Given the description of an element on the screen output the (x, y) to click on. 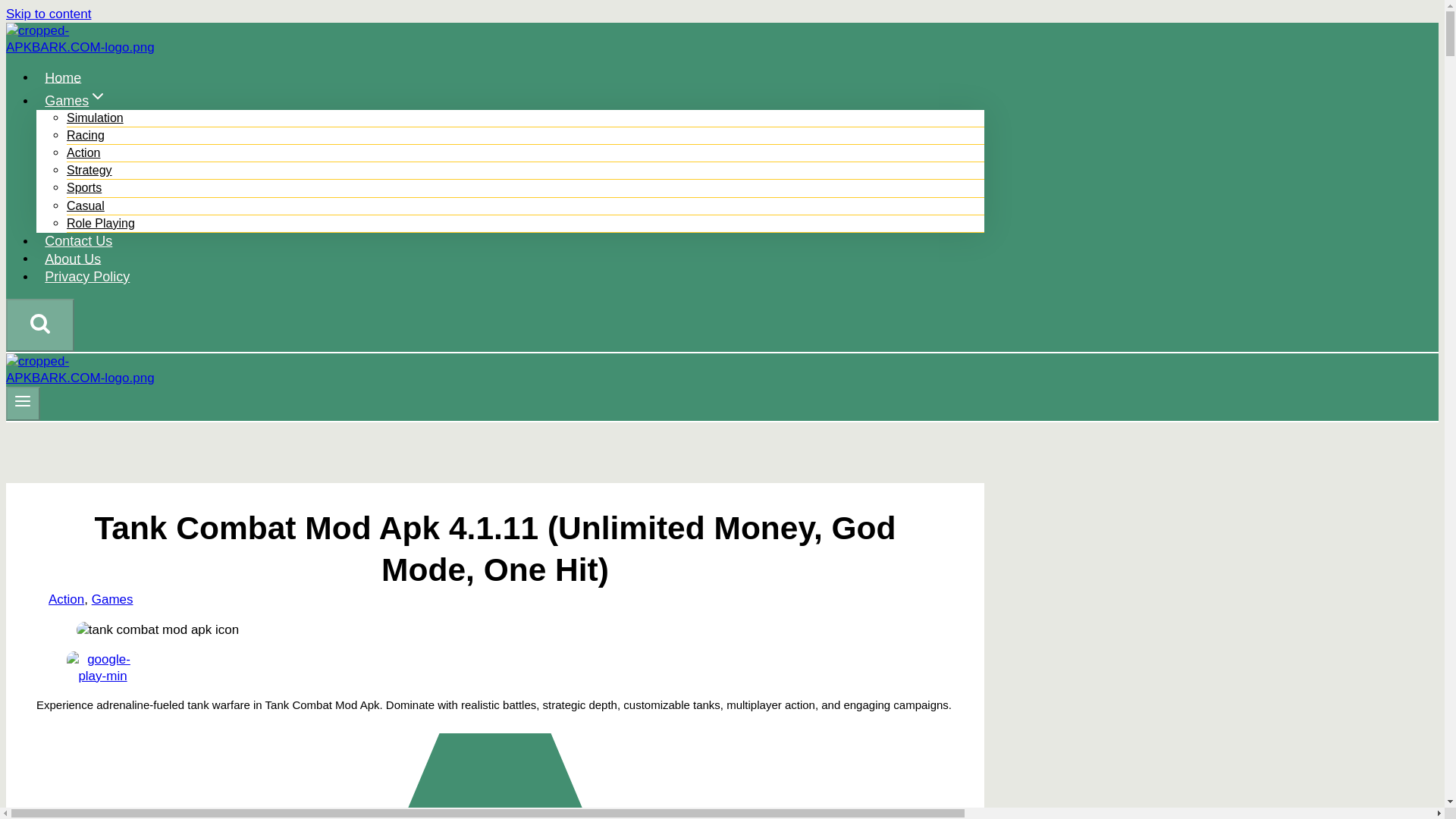
Skip to content (47, 13)
Strategy (89, 170)
Search (39, 322)
Sports (83, 187)
Action (66, 599)
GamesExpand (76, 100)
Toggle Menu (22, 403)
Privacy Policy (87, 276)
Racing (85, 135)
Simulation (94, 117)
